Given the description of an element on the screen output the (x, y) to click on. 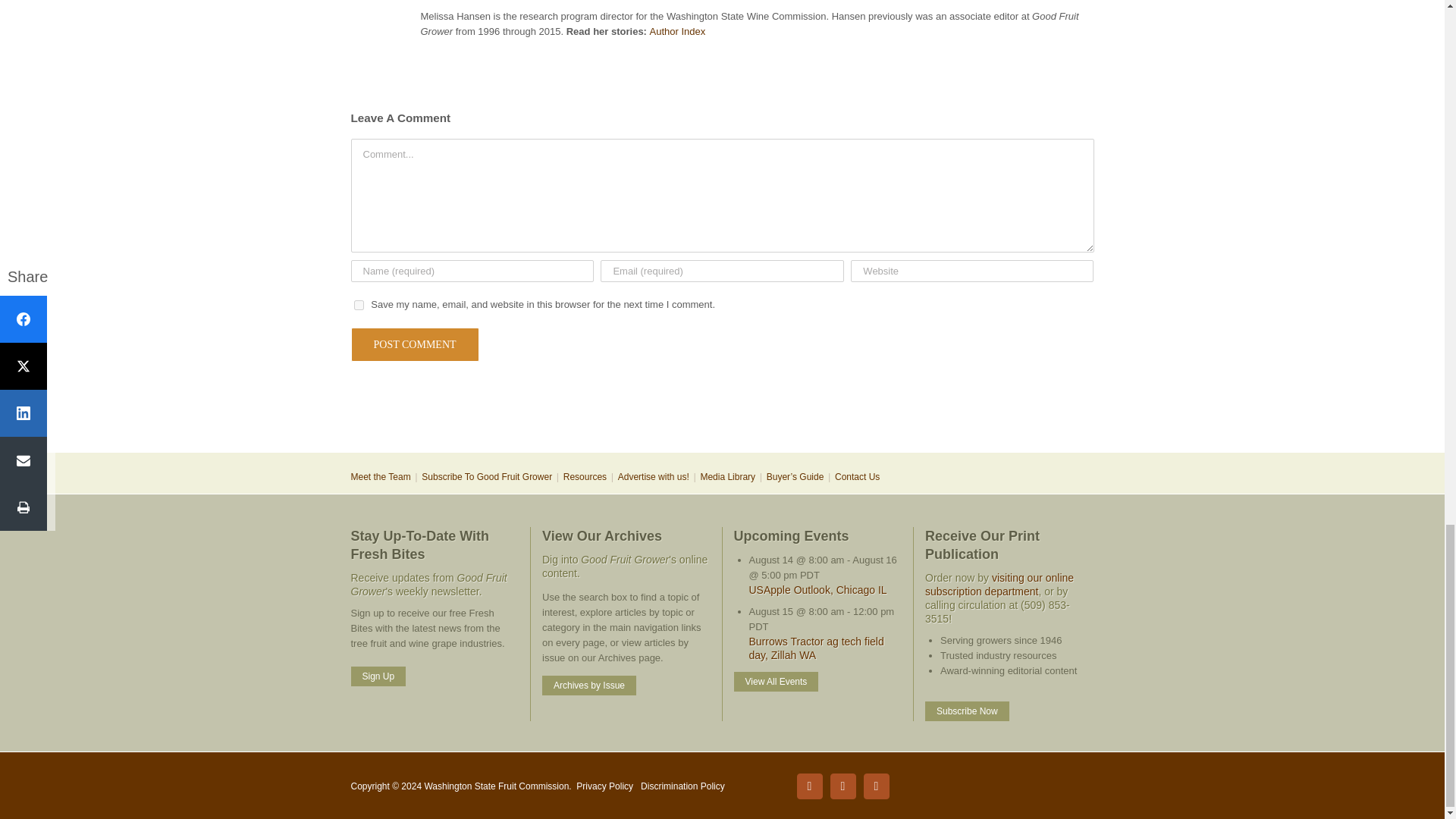
Post Comment (414, 344)
LinkedIn (842, 786)
Facebook (809, 786)
YouTube (875, 786)
yes (357, 305)
